Given the description of an element on the screen output the (x, y) to click on. 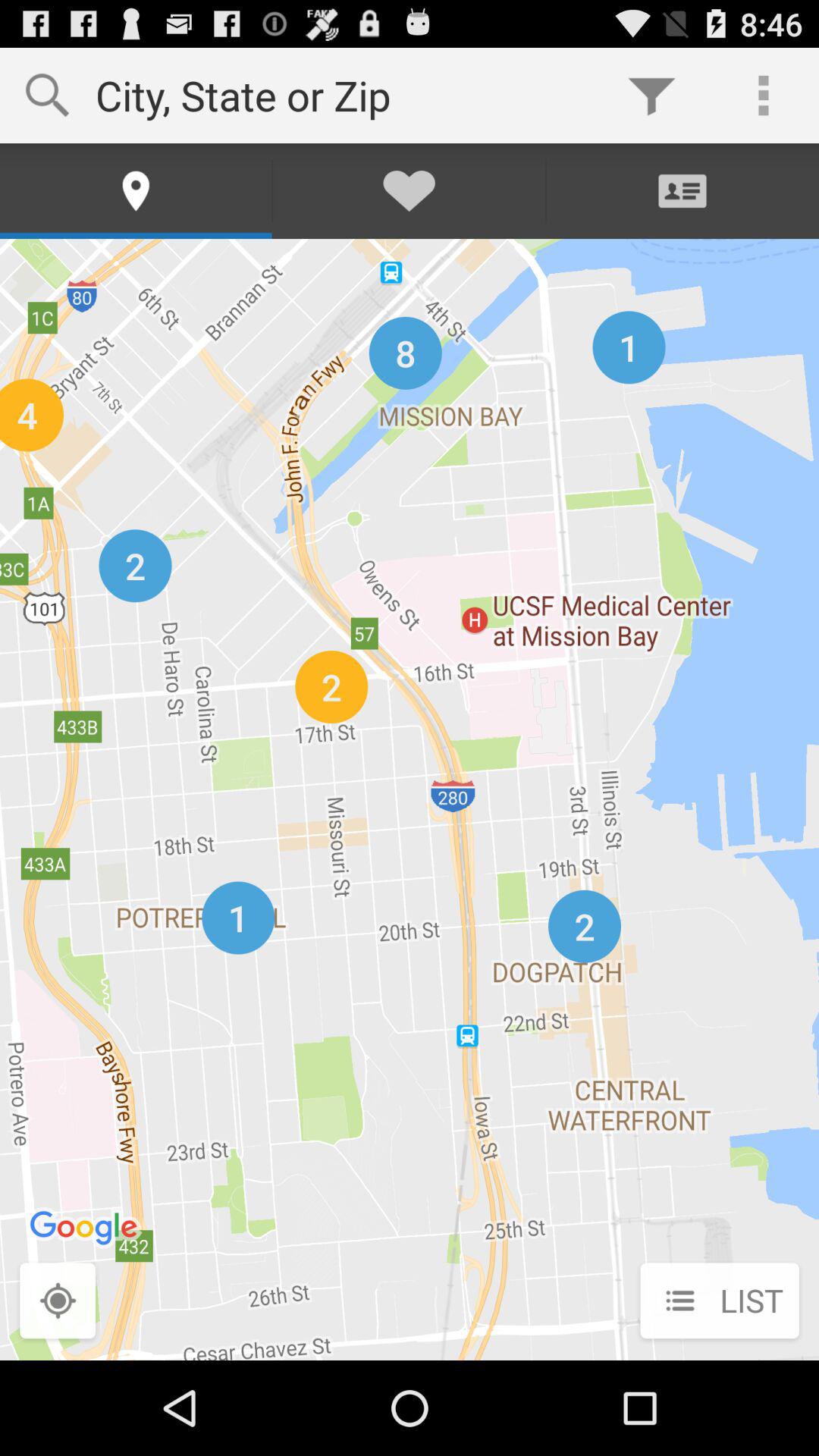
select the button next to list icon (57, 1302)
